Given the description of an element on the screen output the (x, y) to click on. 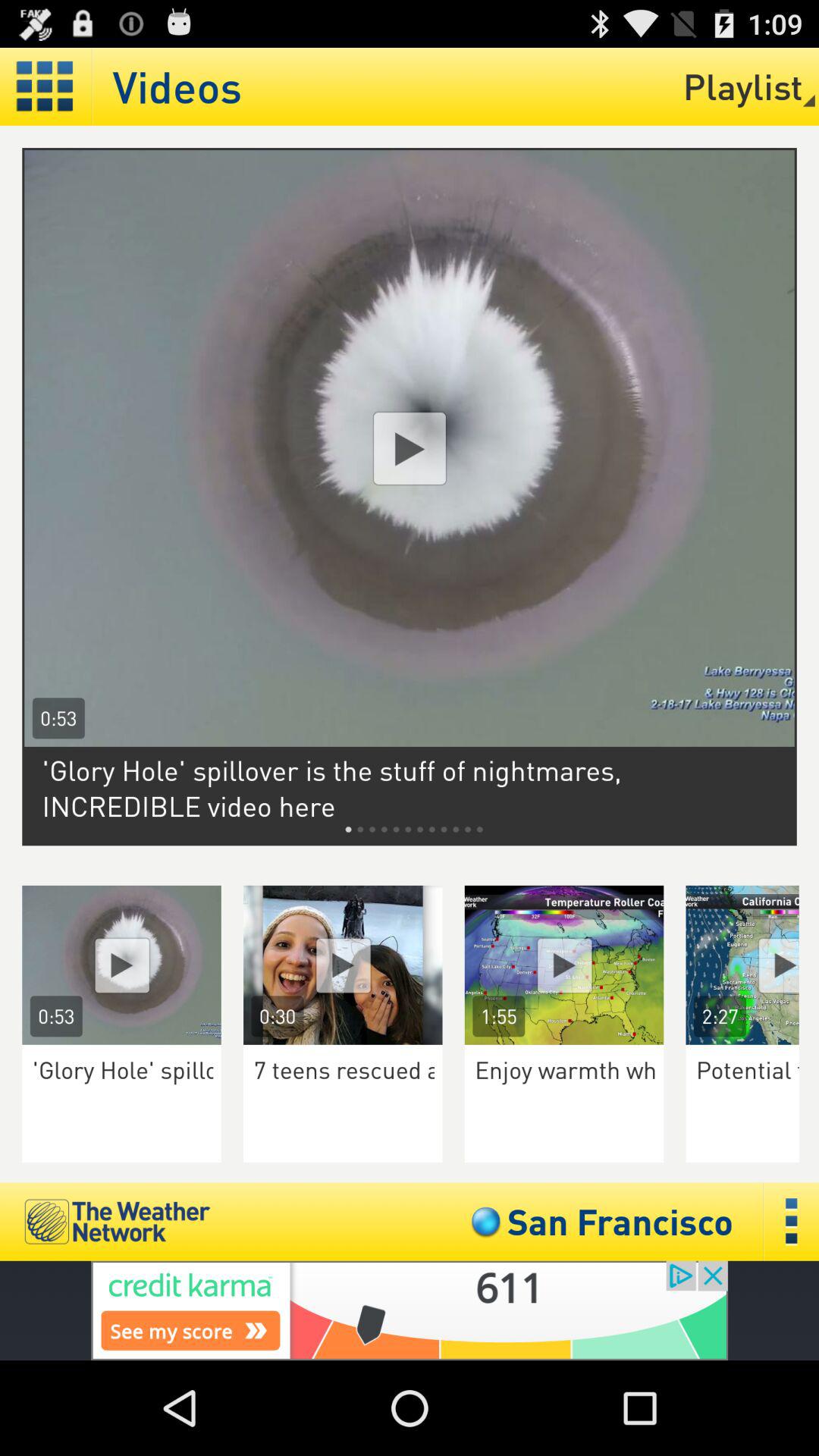
open video (121, 964)
